Given the description of an element on the screen output the (x, y) to click on. 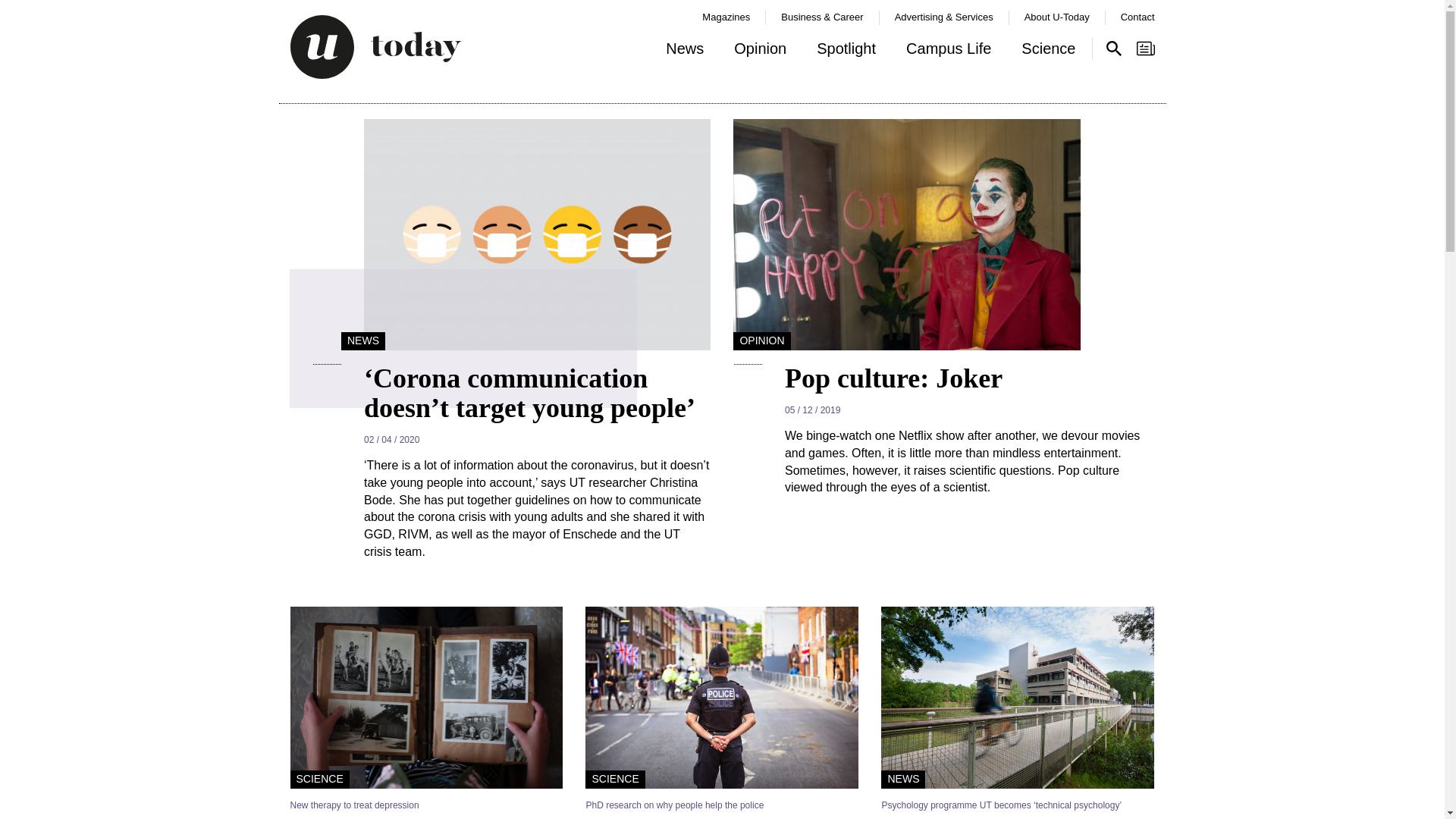
Magazines (725, 16)
Search (1112, 48)
About U-Today (1057, 16)
Opinion (760, 51)
Campus Life (948, 51)
News (684, 51)
2020-04-02 10:29 (537, 439)
Contact (1137, 16)
2019-12-05 15:09 (969, 410)
Science (1048, 51)
